Given the description of an element on the screen output the (x, y) to click on. 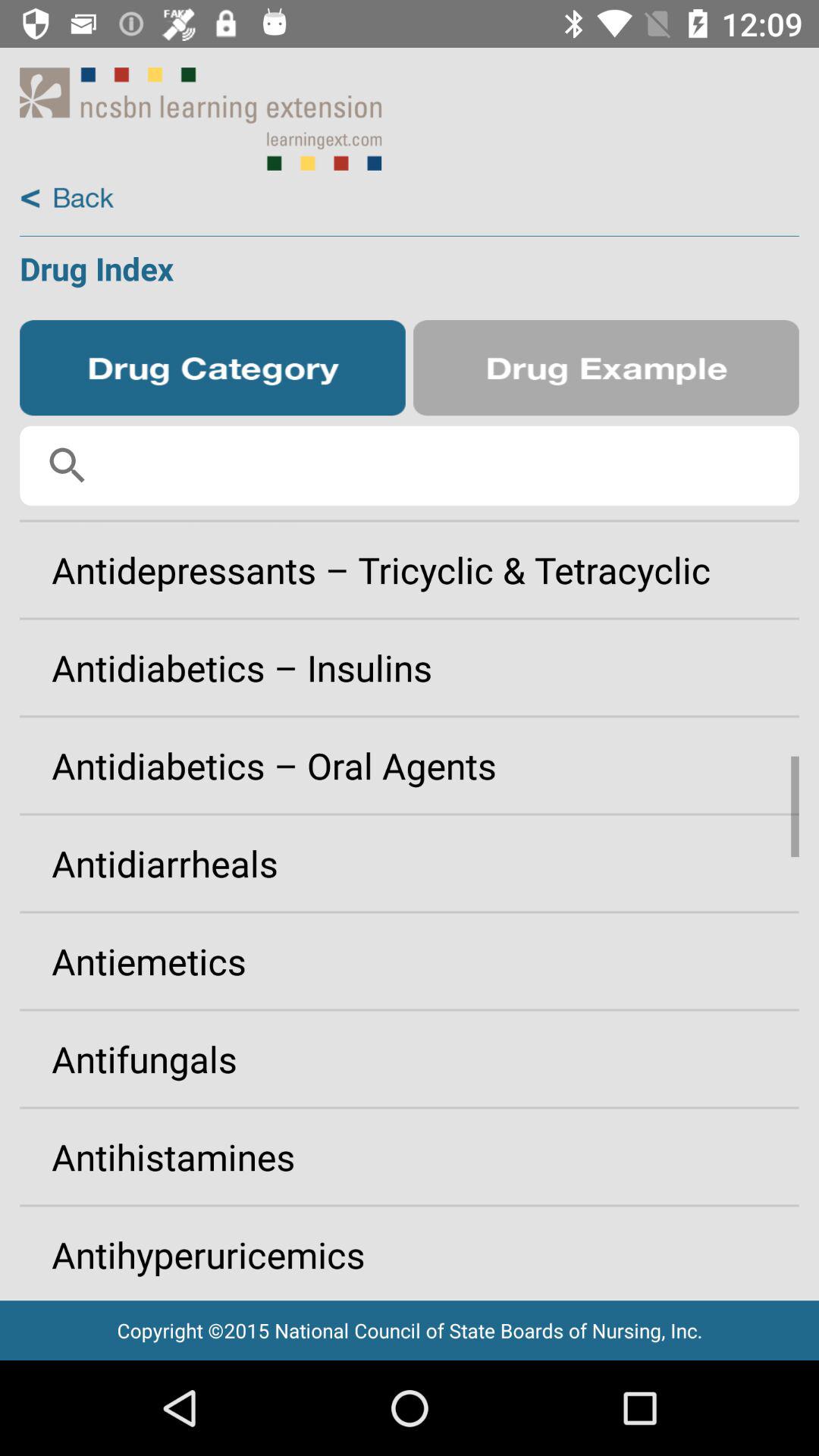
choose the antihistamines (409, 1156)
